Given the description of an element on the screen output the (x, y) to click on. 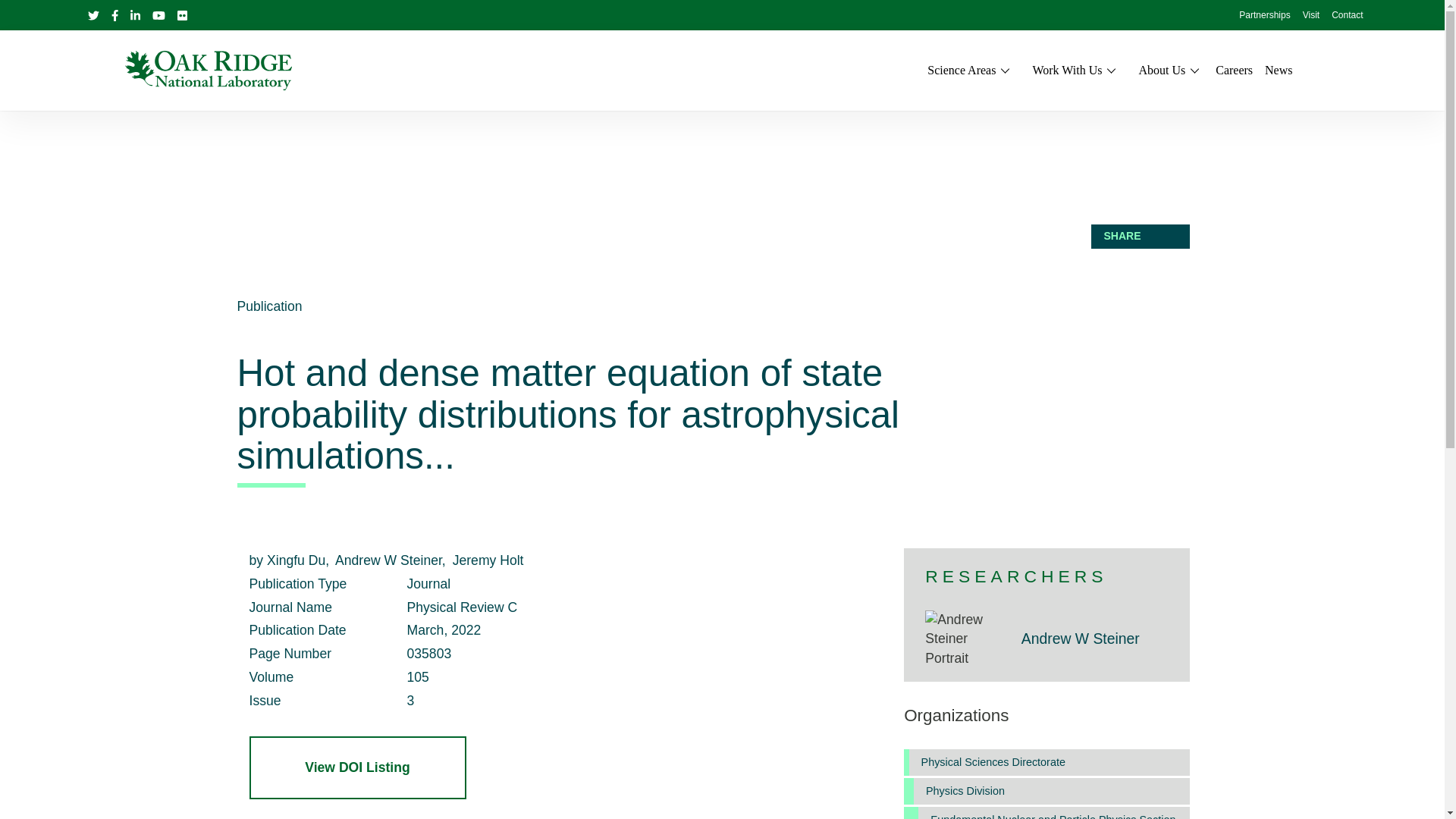
Careers (1233, 69)
YouTube (158, 15)
Oak Ridge National Laboratory (208, 70)
Contact (1347, 15)
Andrew W Steiner (1081, 639)
View DOI Listing (356, 767)
News (1278, 69)
Partnerships (1264, 15)
